Given the description of an element on the screen output the (x, y) to click on. 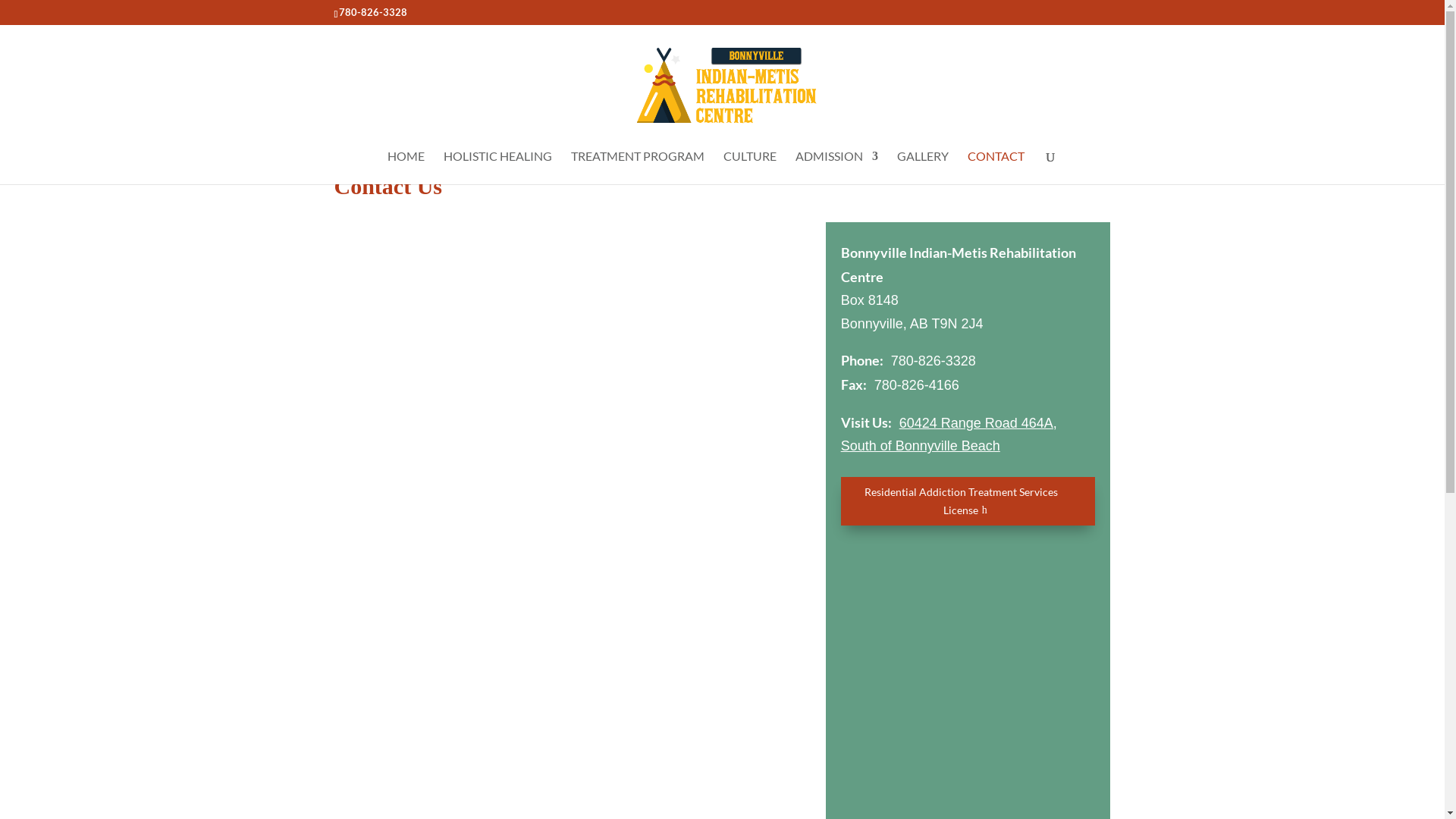
GALLERY Element type: text (922, 167)
60424 Range Road 464A, South of Bonnyville Beach Element type: text (948, 434)
TREATMENT PROGRAM Element type: text (637, 167)
HOME Element type: text (405, 167)
Residential Addiction Treatment Services License Element type: text (967, 500)
CULTURE Element type: text (749, 167)
ADMISSION Element type: text (836, 167)
CONTACT Element type: text (995, 167)
HOLISTIC HEALING Element type: text (497, 167)
